Given the description of an element on the screen output the (x, y) to click on. 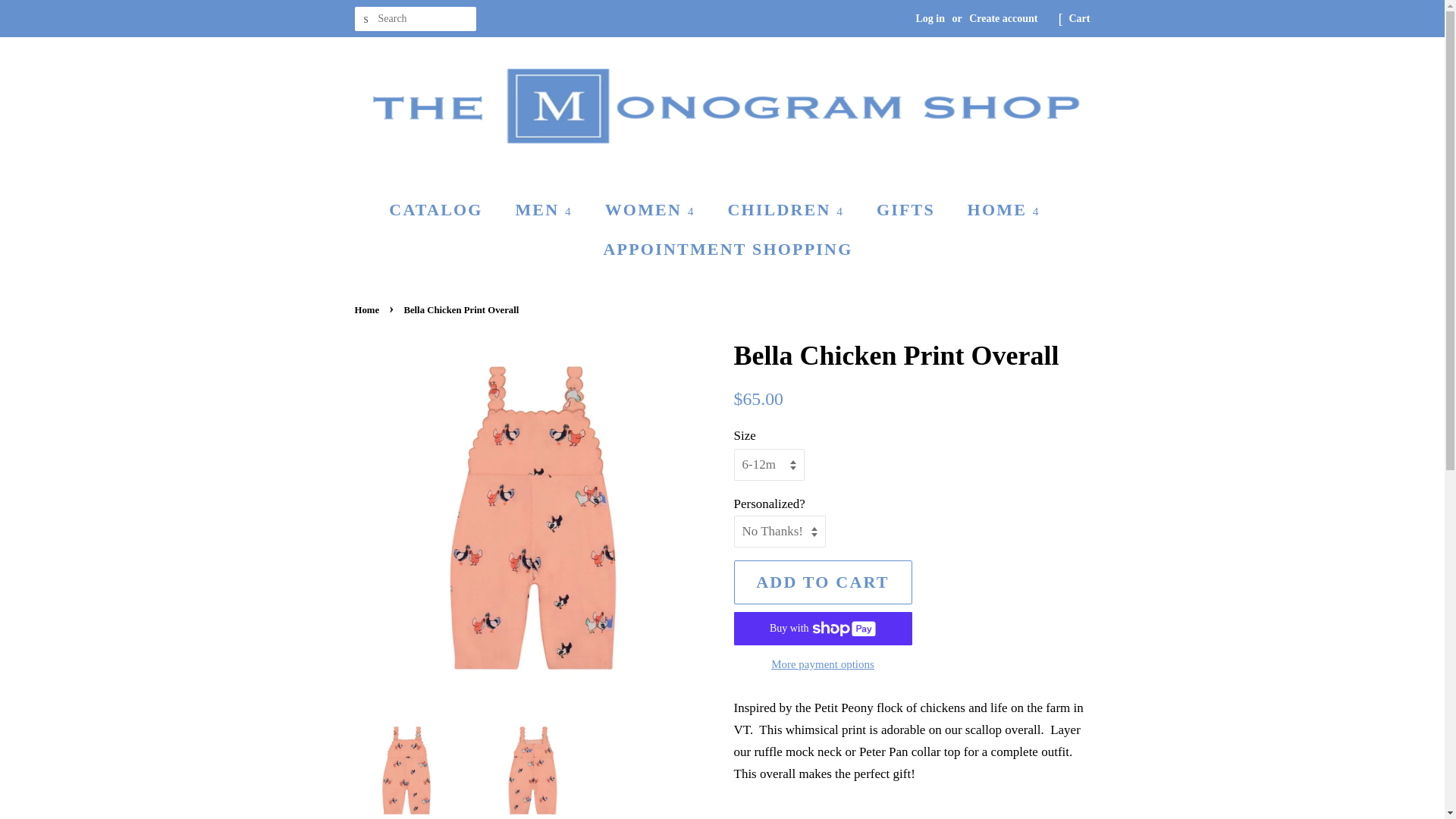
Cart (1079, 18)
Back to the frontpage (369, 309)
Log in (929, 18)
Create account (1002, 18)
SEARCH (366, 18)
